Given the description of an element on the screen output the (x, y) to click on. 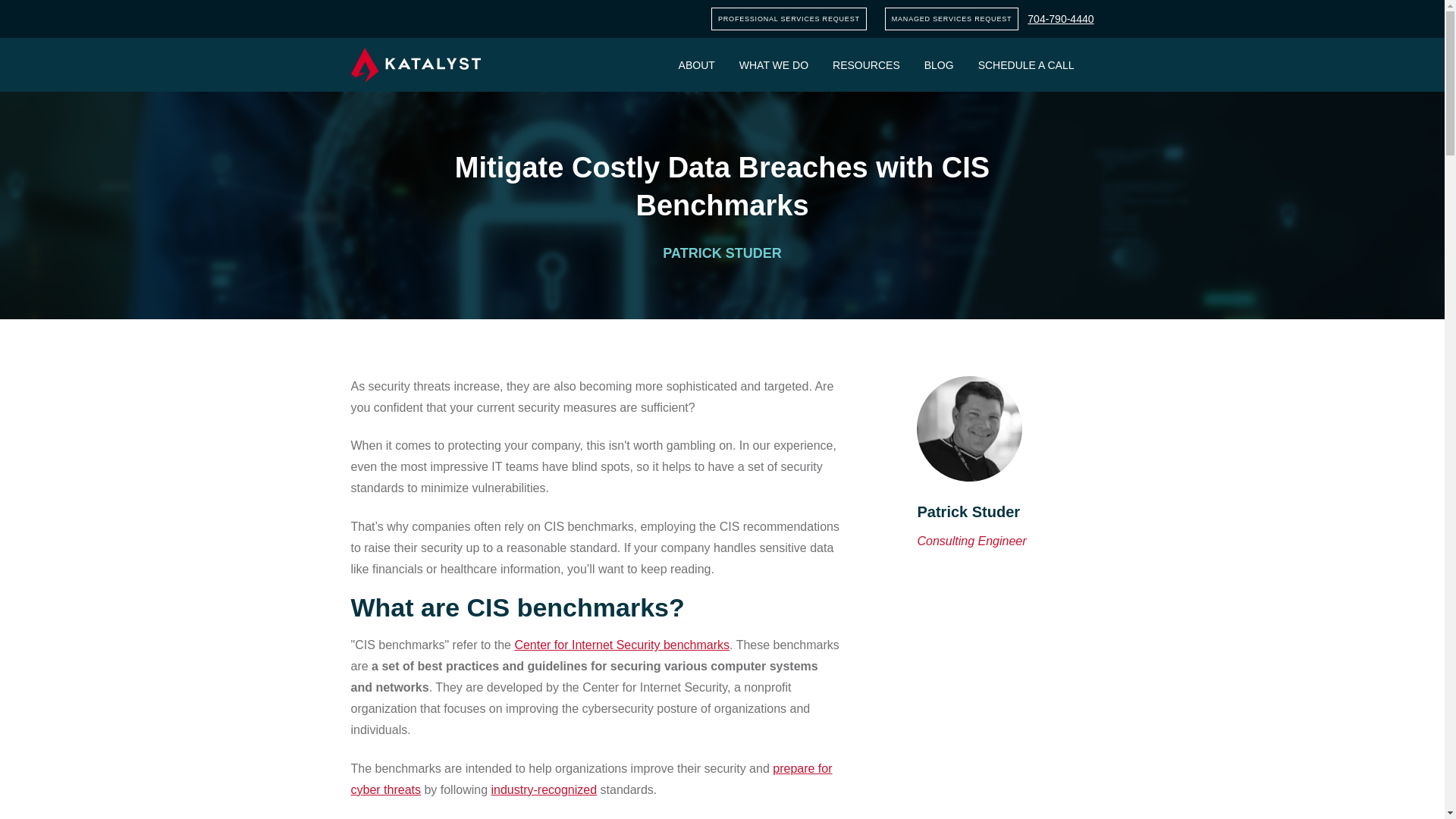
MANAGED SERVICES REQUEST (952, 18)
WHAT WE DO (773, 64)
prepare for cyber threats (590, 779)
ABOUT (696, 64)
BLOG (938, 64)
Center for Internet Security benchmarks (621, 644)
704-790-4440 (1060, 19)
PROFESSIONAL SERVICES REQUEST (788, 18)
industry-recognized (543, 789)
SCHEDULE A CALL (1026, 64)
